Given the description of an element on the screen output the (x, y) to click on. 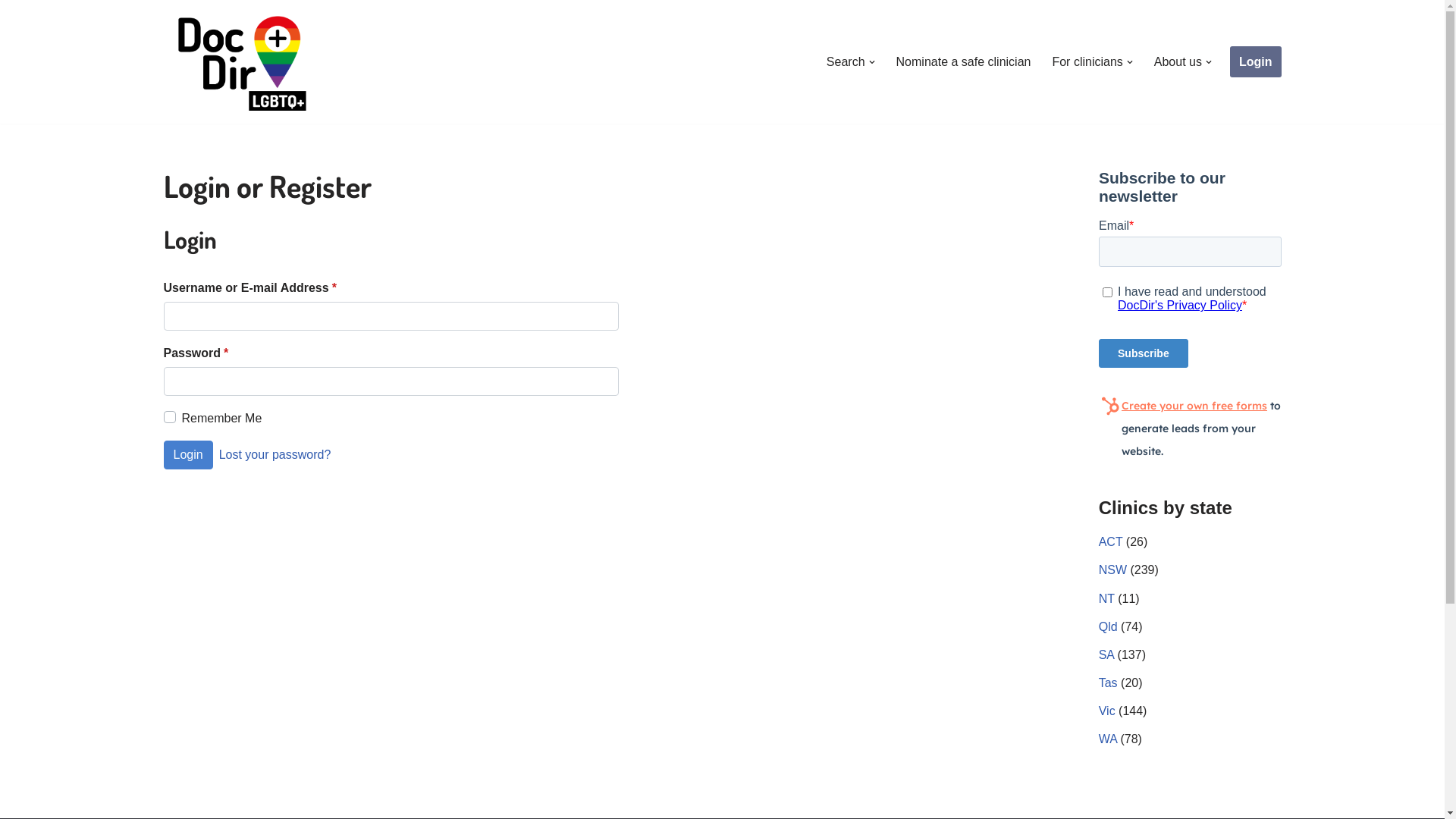
Login Element type: text (188, 454)
ACT Element type: text (1110, 541)
Qld Element type: text (1107, 626)
Nominate a safe clinician Element type: text (963, 61)
SA Element type: text (1105, 654)
NT Element type: text (1106, 598)
For clinicians Element type: text (1086, 61)
Search Element type: text (845, 61)
Skip to content Element type: text (11, 31)
Vic Element type: text (1106, 710)
NSW Element type: text (1112, 569)
Form 0 Element type: hover (1189, 315)
Lost your password? Element type: text (275, 454)
WA Element type: text (1107, 738)
About us Element type: text (1177, 61)
Login Element type: text (1255, 62)
Tas Element type: text (1107, 682)
